Given the description of an element on the screen output the (x, y) to click on. 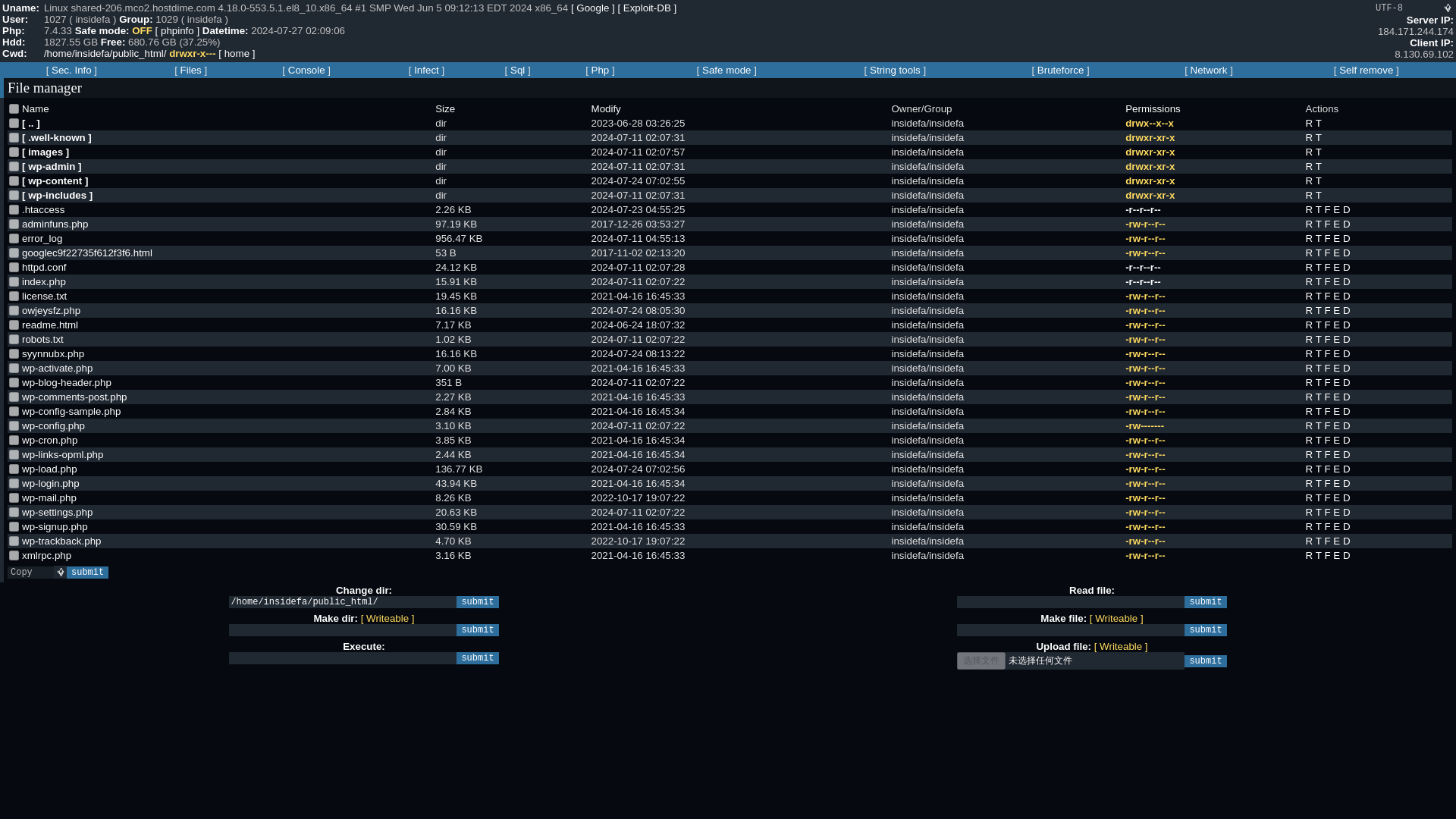
Self remove (1366, 70)
Console (306, 70)
.well-known (13, 137)
String tools (894, 70)
wp-activate.php (13, 368)
.. (13, 122)
readme.html (13, 325)
Size (444, 108)
Permissions (1152, 108)
Safe mode (726, 70)
robots.txt (13, 338)
wp-admin (13, 166)
syynnubx.php (13, 353)
googlec9f22735f612f3f6.html (13, 252)
on (13, 108)
